Given the description of an element on the screen output the (x, y) to click on. 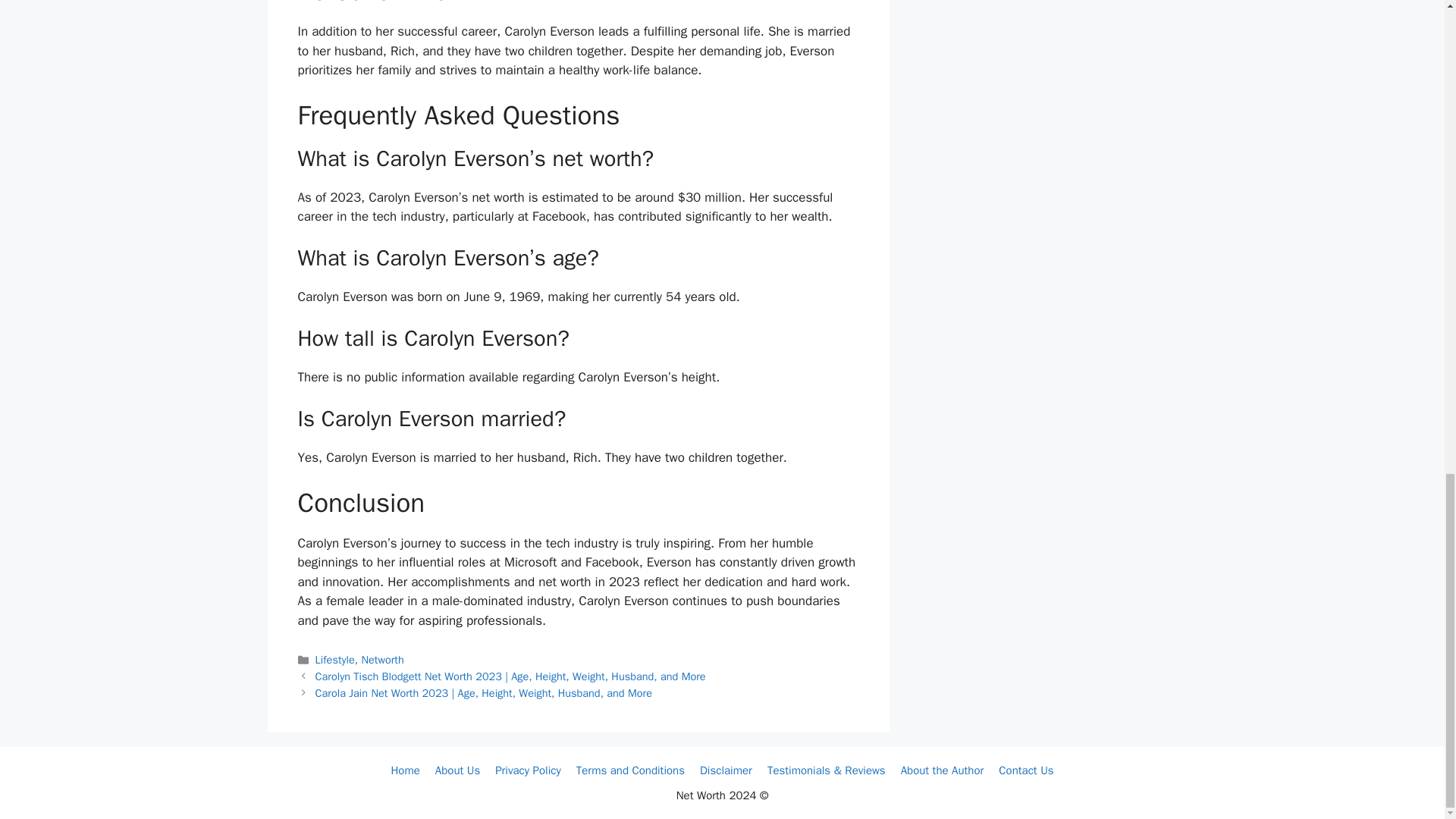
Disclaimer (726, 770)
Terms and Conditions (630, 770)
About Us (457, 770)
Home (404, 770)
Privacy Policy (527, 770)
Networth (382, 659)
Scroll back to top (1406, 404)
Lifestyle (335, 659)
